Given the description of an element on the screen output the (x, y) to click on. 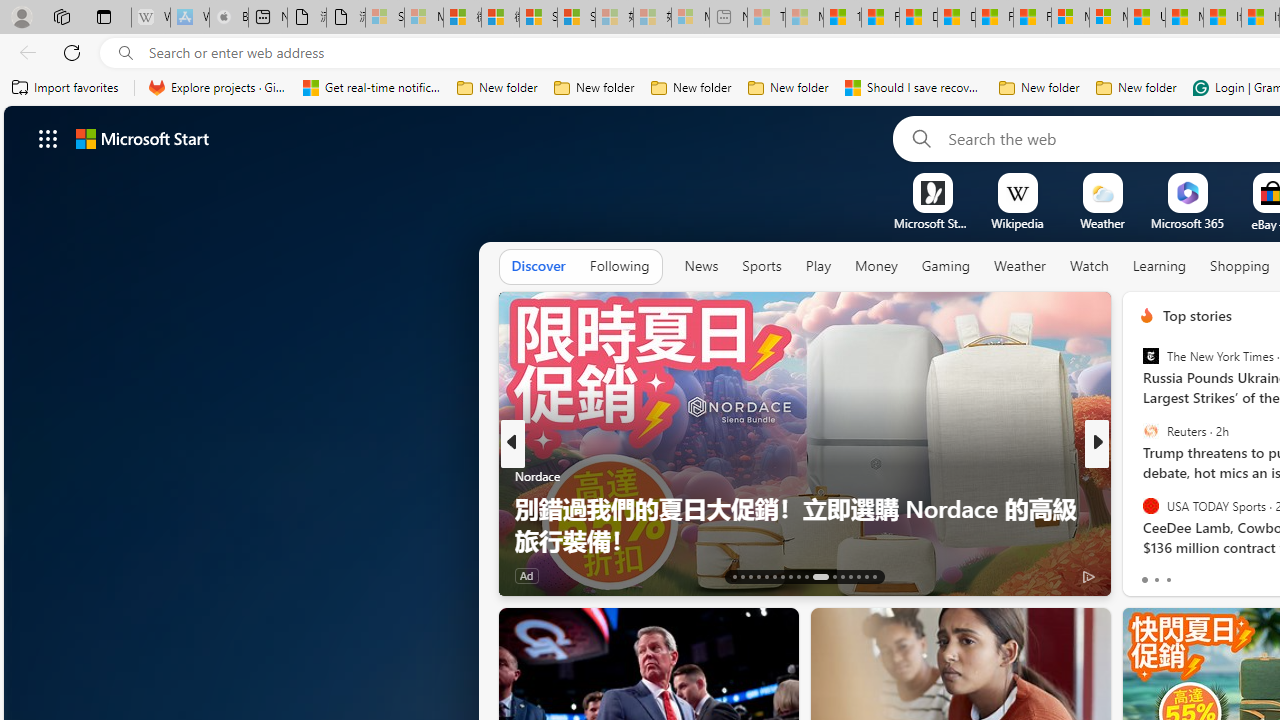
tab-1 (1156, 579)
Microsoft account | Account Checkup - Sleeping (690, 17)
Watch (1089, 265)
View comments 14 Comment (11, 575)
View comments 7 Comment (1229, 575)
Gaming (945, 265)
Foo BAR | Trusted Community Engagement and Contributions (1031, 17)
AutomationID: tab-14 (742, 576)
